Given the description of an element on the screen output the (x, y) to click on. 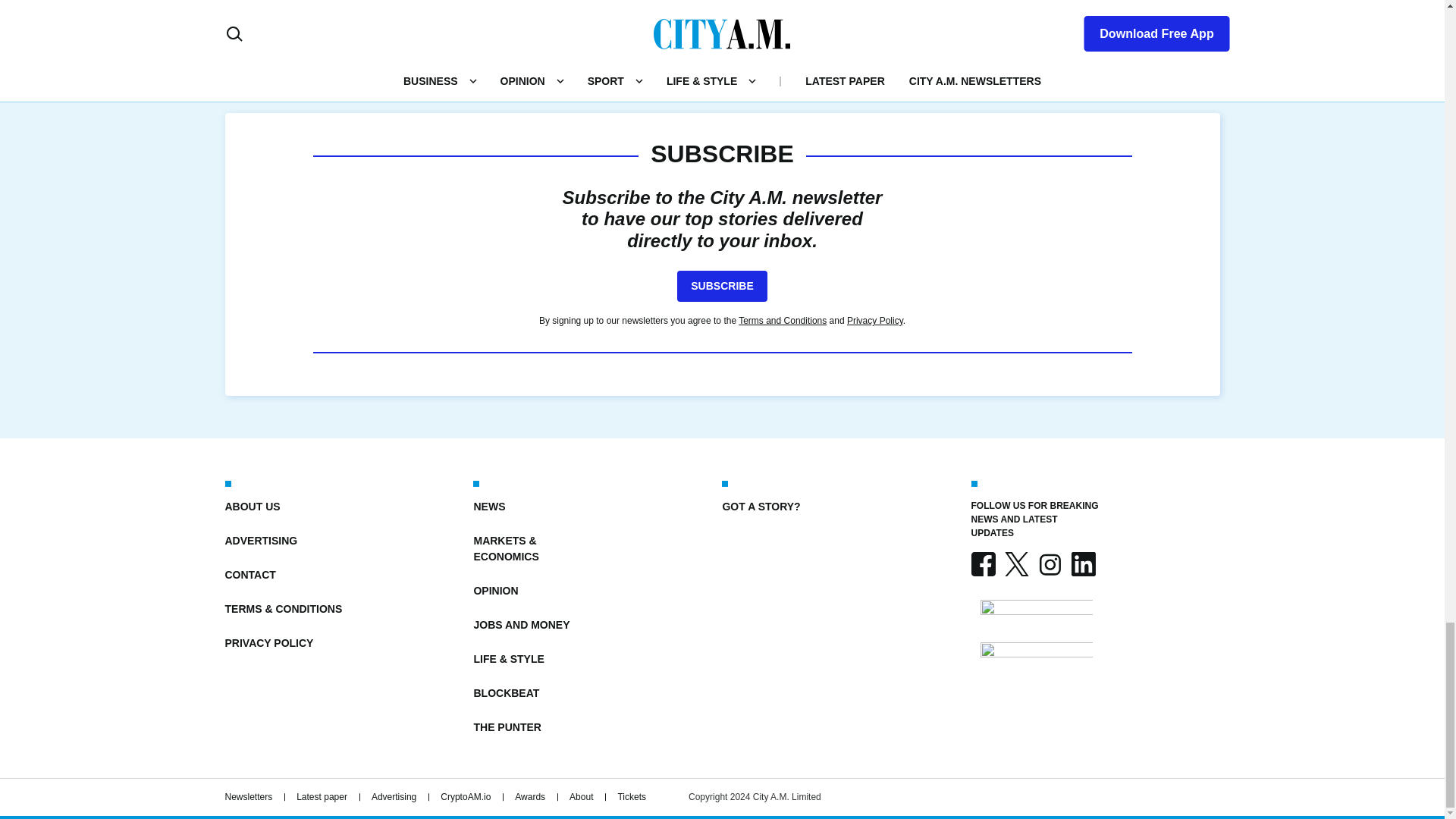
LINKEDIN (1082, 564)
FACEBOOK (982, 564)
X (1015, 564)
INSTAGRAM (1048, 564)
